Given the description of an element on the screen output the (x, y) to click on. 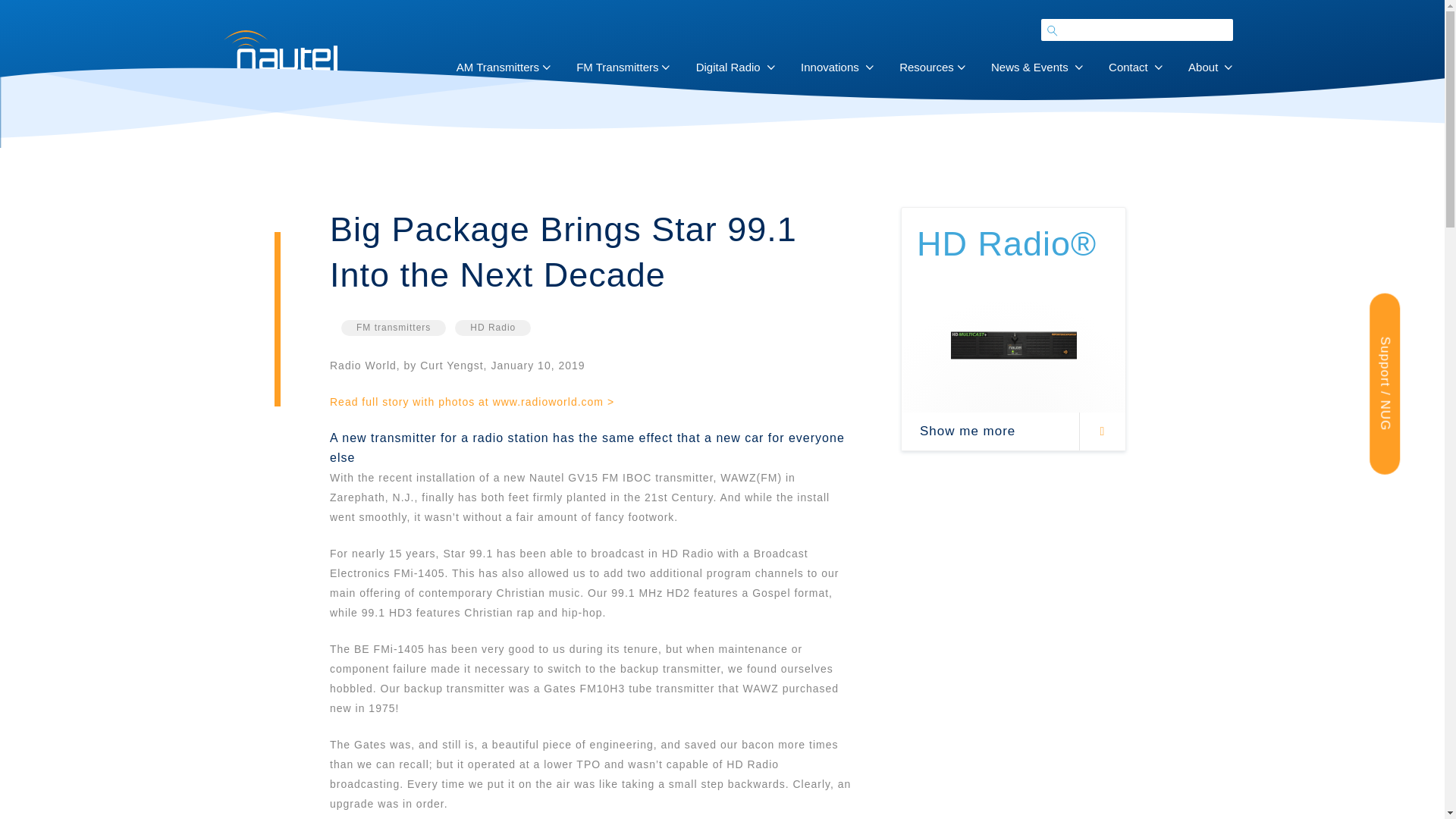
Nautel Products homepage (279, 50)
Resources (926, 66)
FM Transmitters (617, 66)
AM Transmitters (497, 66)
Search (21, 7)
Digital Radio (727, 66)
Innovations (829, 66)
